Given the description of an element on the screen output the (x, y) to click on. 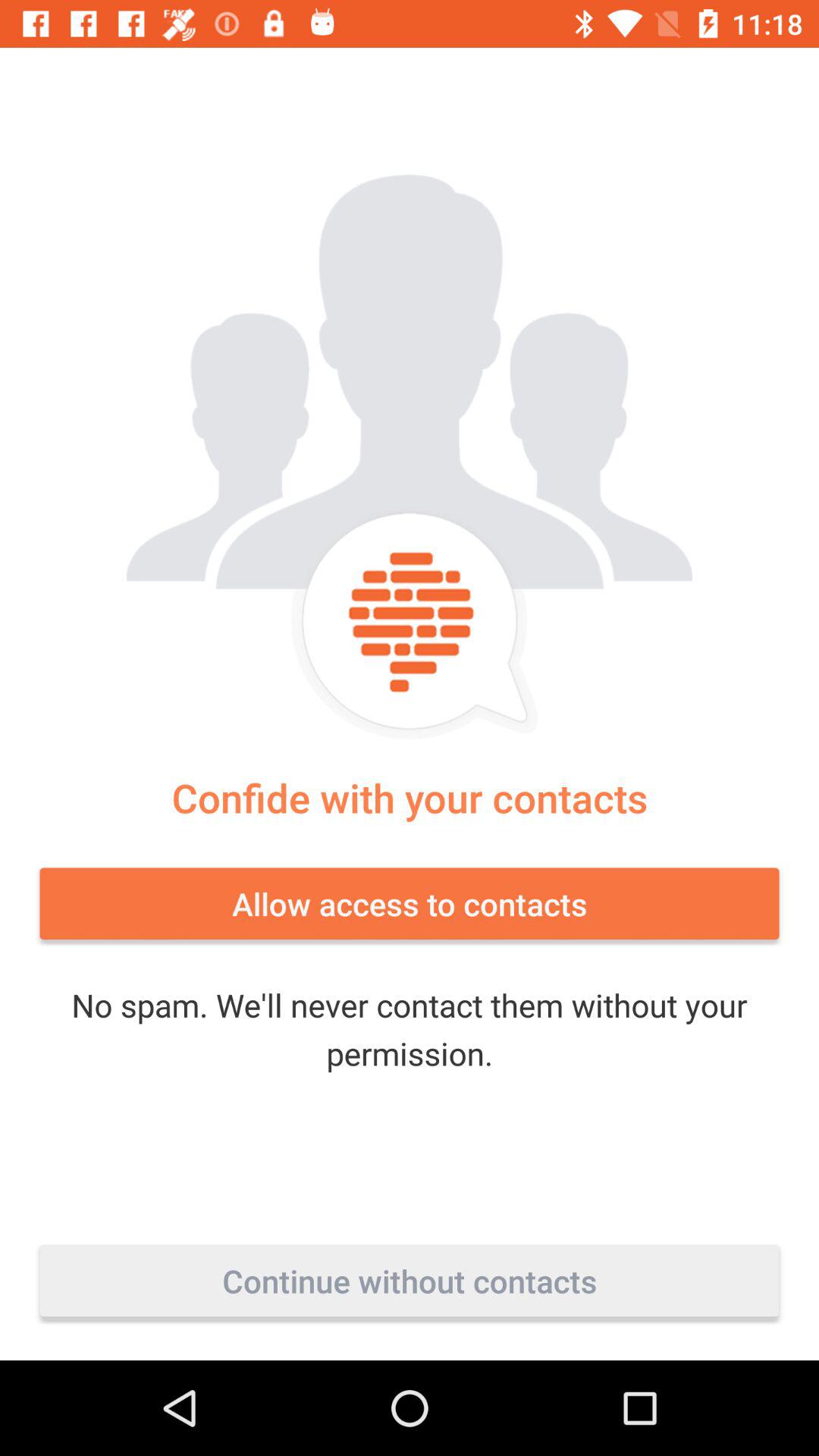
scroll to the allow access to item (409, 903)
